Given the description of an element on the screen output the (x, y) to click on. 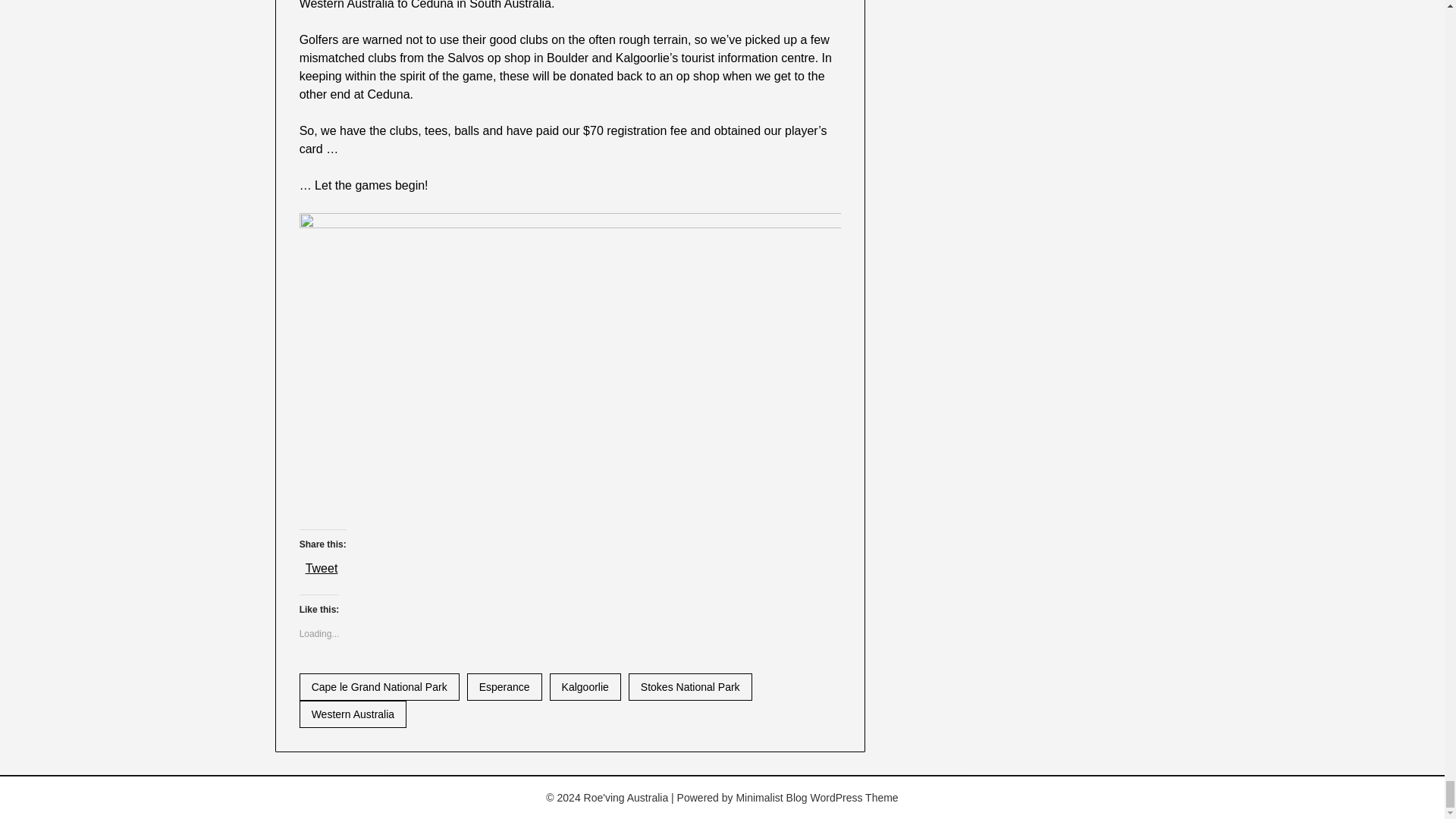
Western Australia (352, 714)
Esperance (504, 687)
Stokes National Park (690, 687)
Kalgoorlie (585, 687)
Cape le Grand National Park (379, 687)
Minimalist Blog (770, 797)
Tweet (321, 566)
